Given the description of an element on the screen output the (x, y) to click on. 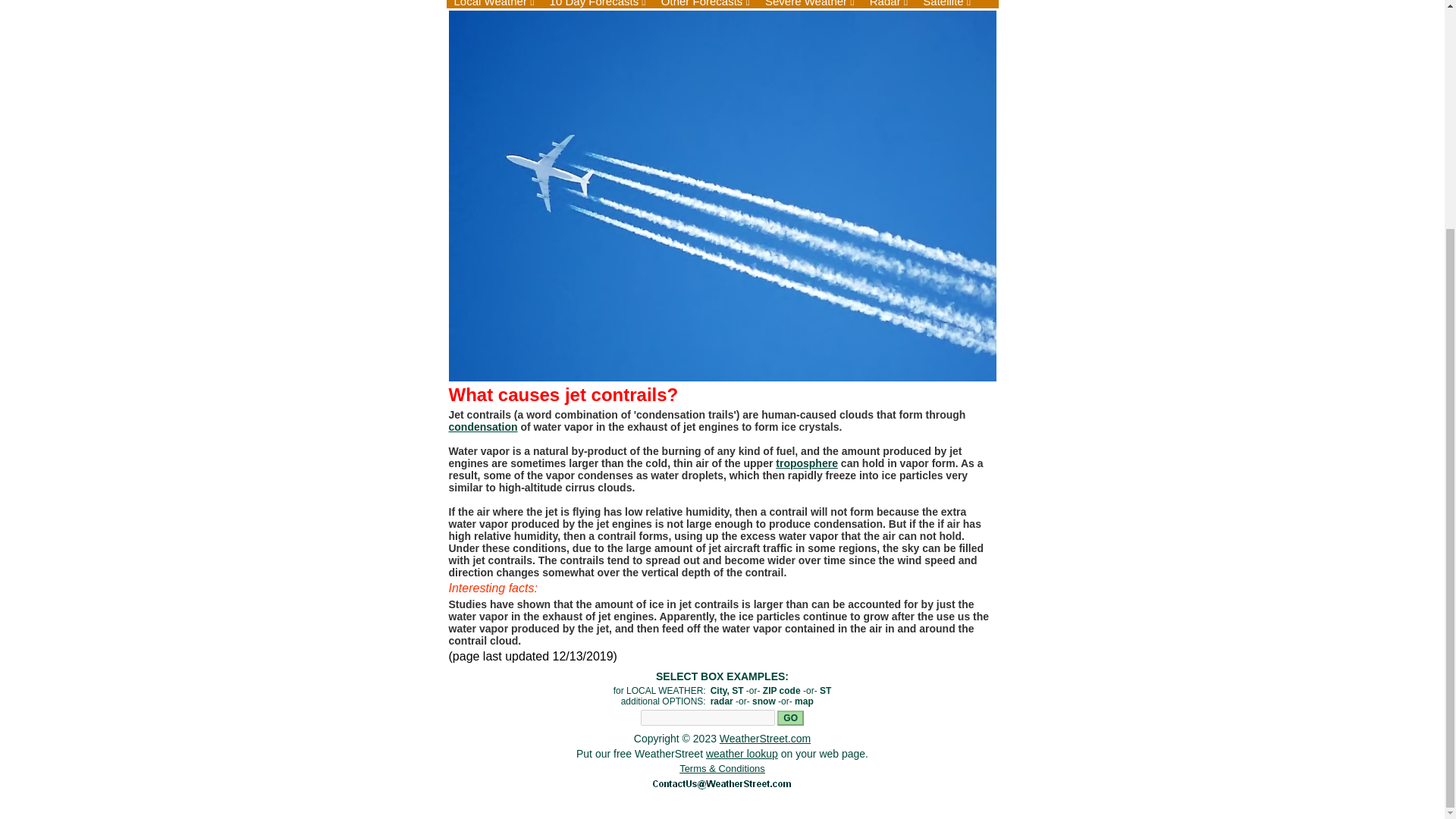
GO (790, 717)
Other Forecasts (705, 4)
Local Weather (493, 4)
10 Day Forecasts (597, 4)
